Given the description of an element on the screen output the (x, y) to click on. 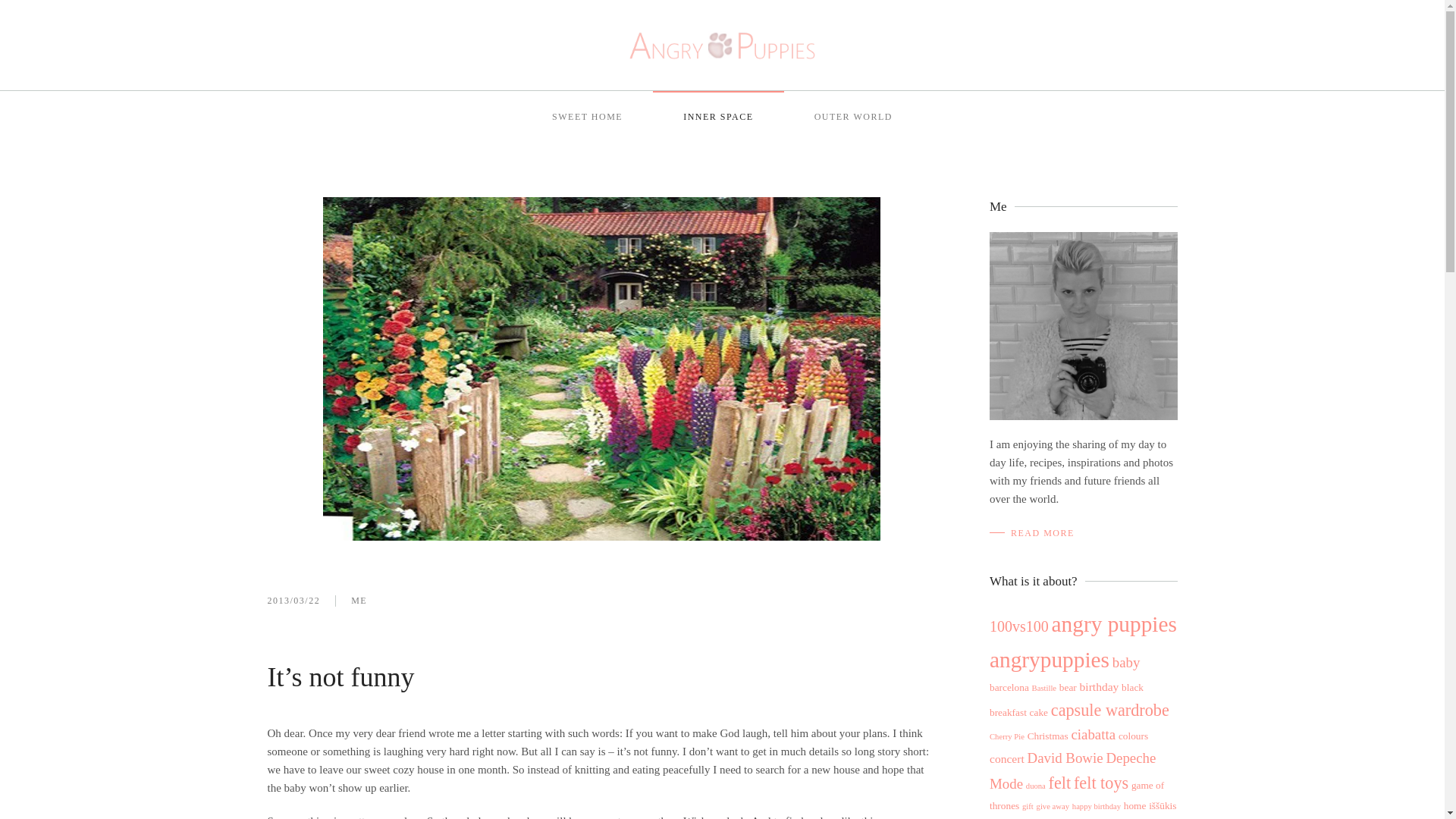
Bastille (1044, 687)
SWEET HOME (586, 117)
INNER SPACE (717, 117)
angry puppies (1113, 623)
capsule wardrobe (1110, 710)
100vs100 (1019, 626)
ME (358, 600)
READ MORE (1032, 533)
colours (1133, 736)
black (1131, 686)
baby (1126, 662)
birthday (1099, 686)
OUTER WORLD (853, 117)
barcelona (1009, 686)
angrypuppies (1049, 659)
